Given the description of an element on the screen output the (x, y) to click on. 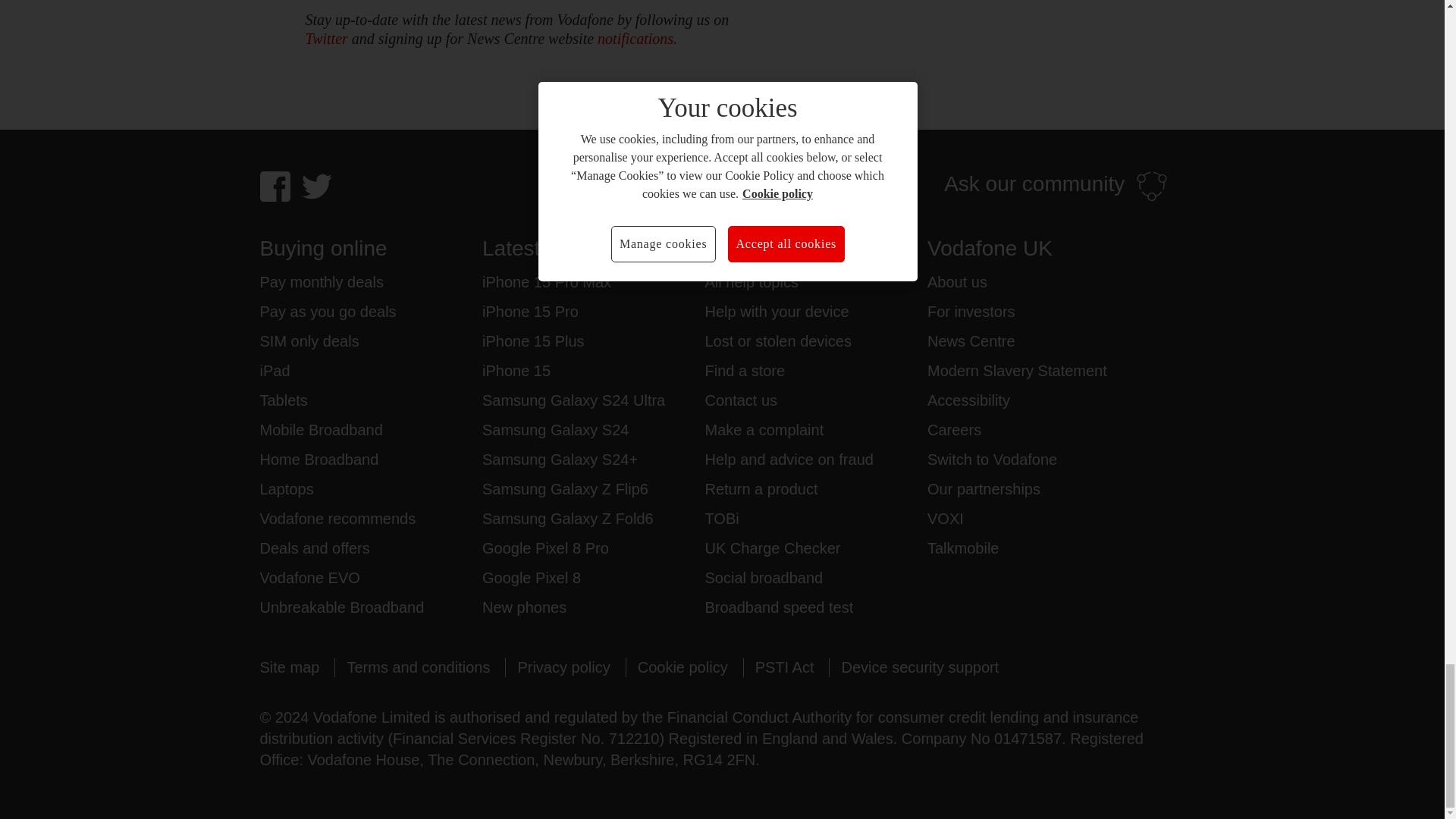
Twitter (325, 38)
notifications. (636, 38)
